Given the description of an element on the screen output the (x, y) to click on. 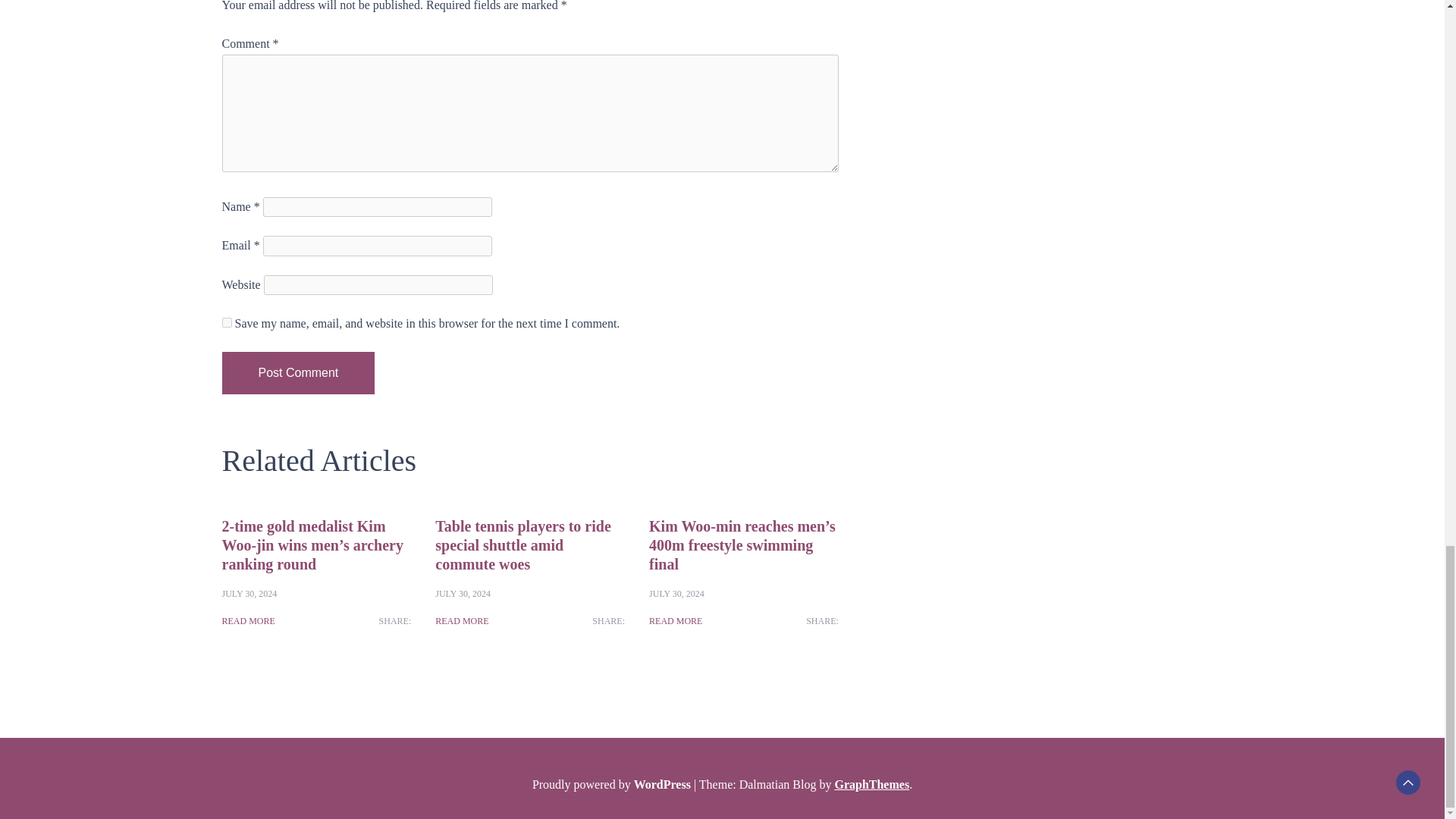
Post Comment (297, 372)
Post Comment (297, 372)
JULY 30, 2024 (248, 593)
READ MORE (675, 620)
READ MORE (248, 620)
JULY 30, 2024 (462, 593)
JULY 30, 2024 (676, 593)
yes (226, 322)
READ MORE (461, 620)
